Given the description of an element on the screen output the (x, y) to click on. 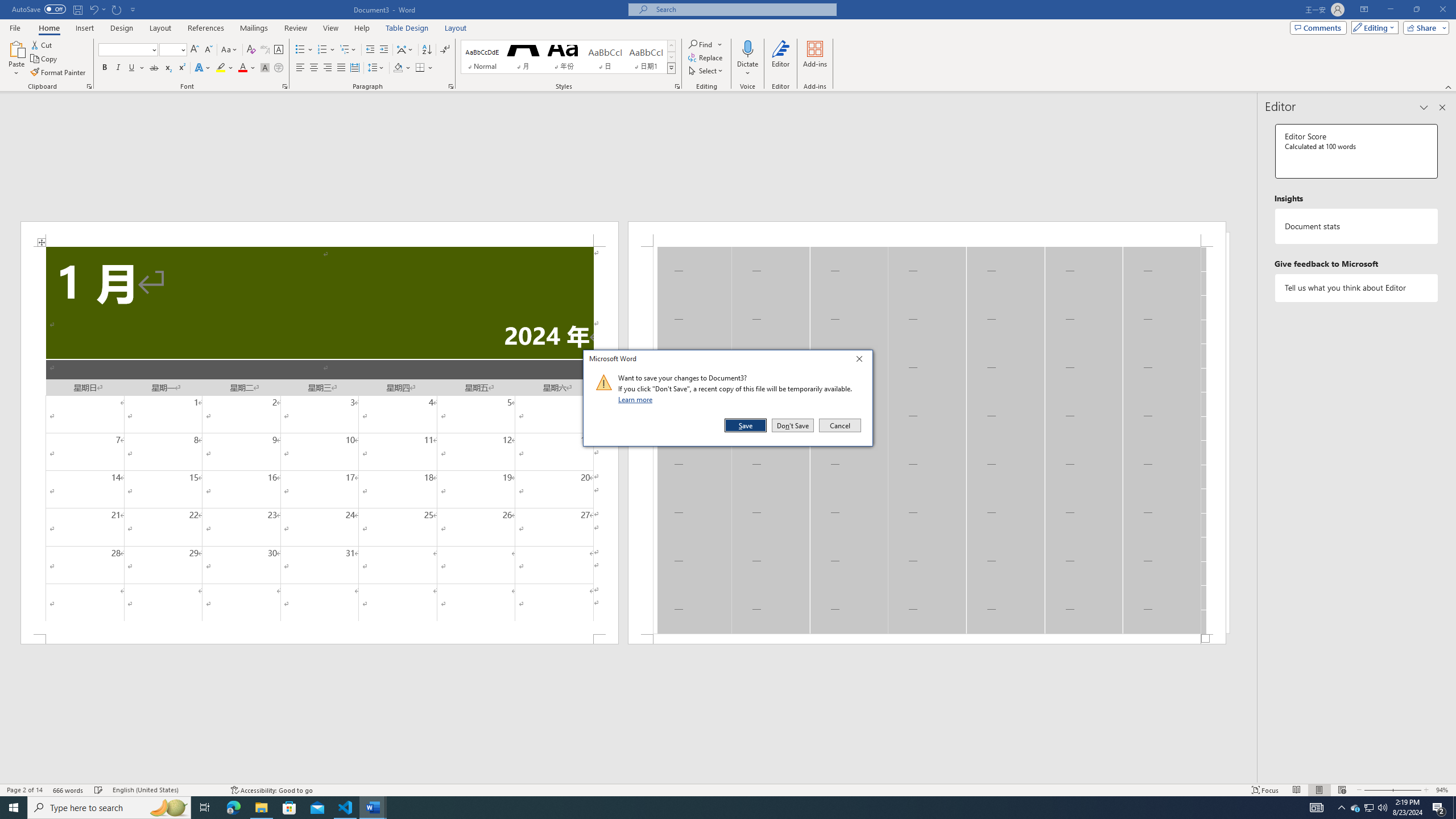
Character Shading (264, 67)
File Explorer - 1 running window (1368, 807)
Distributed (261, 807)
Font Color (354, 67)
Subscript (246, 67)
Font... (167, 67)
More Options (285, 85)
Zoom Out (747, 68)
Task Pane Options (1377, 790)
Underline (1423, 107)
Office Clipboard... (136, 67)
References (88, 85)
Print Layout (205, 28)
